Given the description of an element on the screen output the (x, y) to click on. 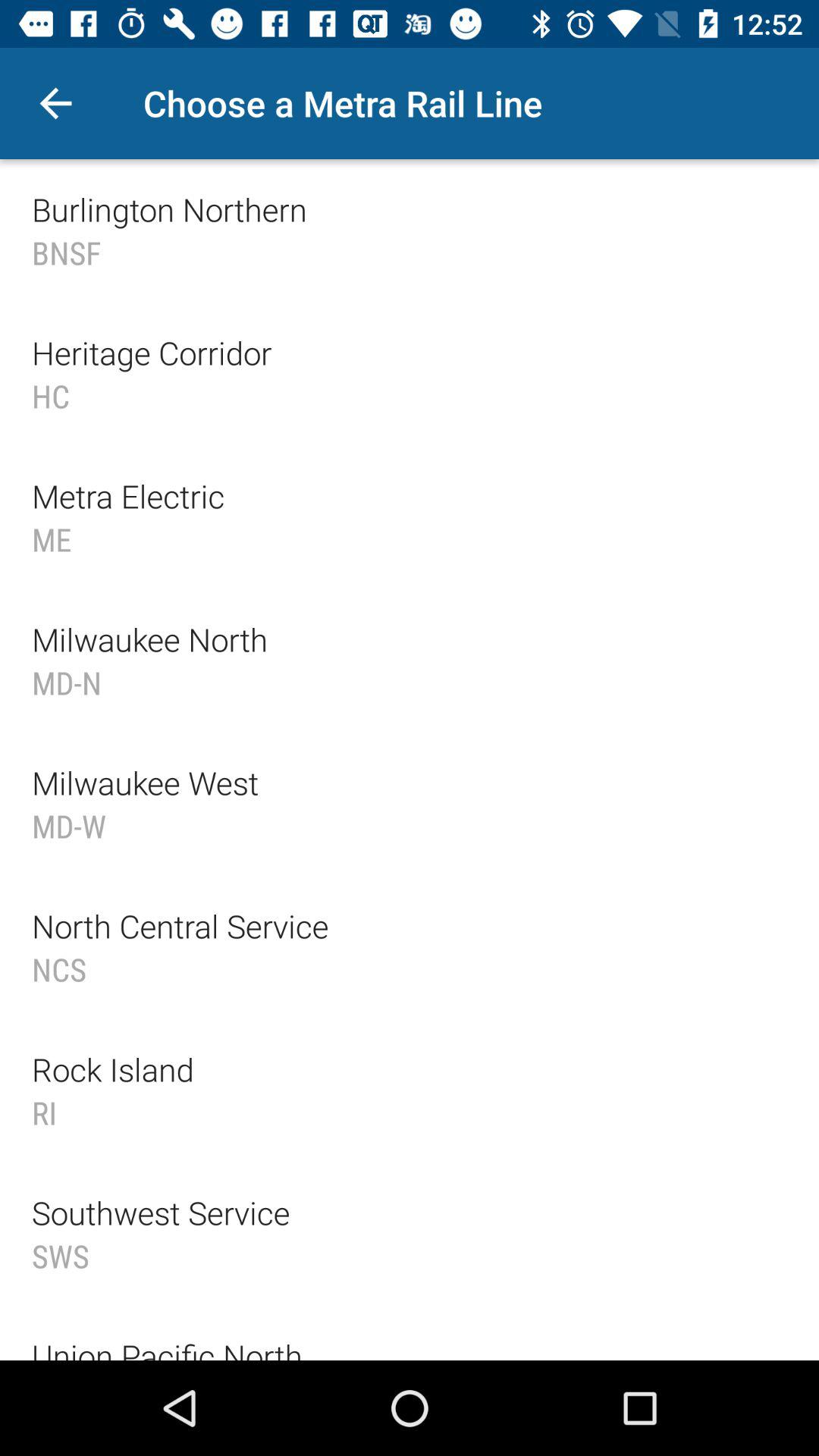
launch icon to the left of choose a metra (55, 103)
